Given the description of an element on the screen output the (x, y) to click on. 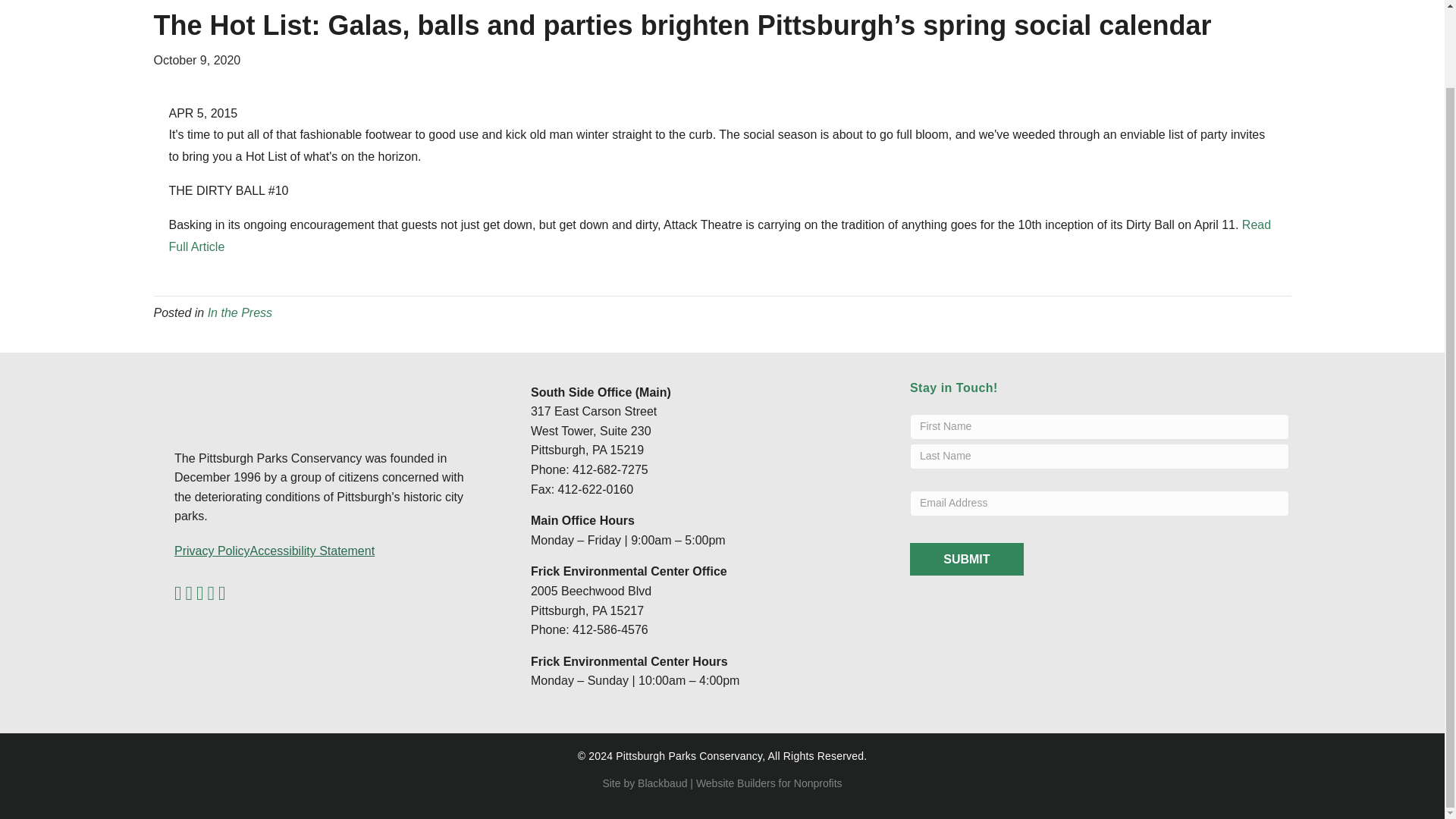
Instagram  (221, 593)
Last Name (1099, 456)
PPC Logo Horizontal Cropped (250, 398)
Youtube (211, 593)
Twitter (188, 593)
Facebook (178, 593)
First Name (1099, 426)
Submit (966, 558)
LinkedIn (199, 593)
Email Address (1099, 503)
